Given the description of an element on the screen output the (x, y) to click on. 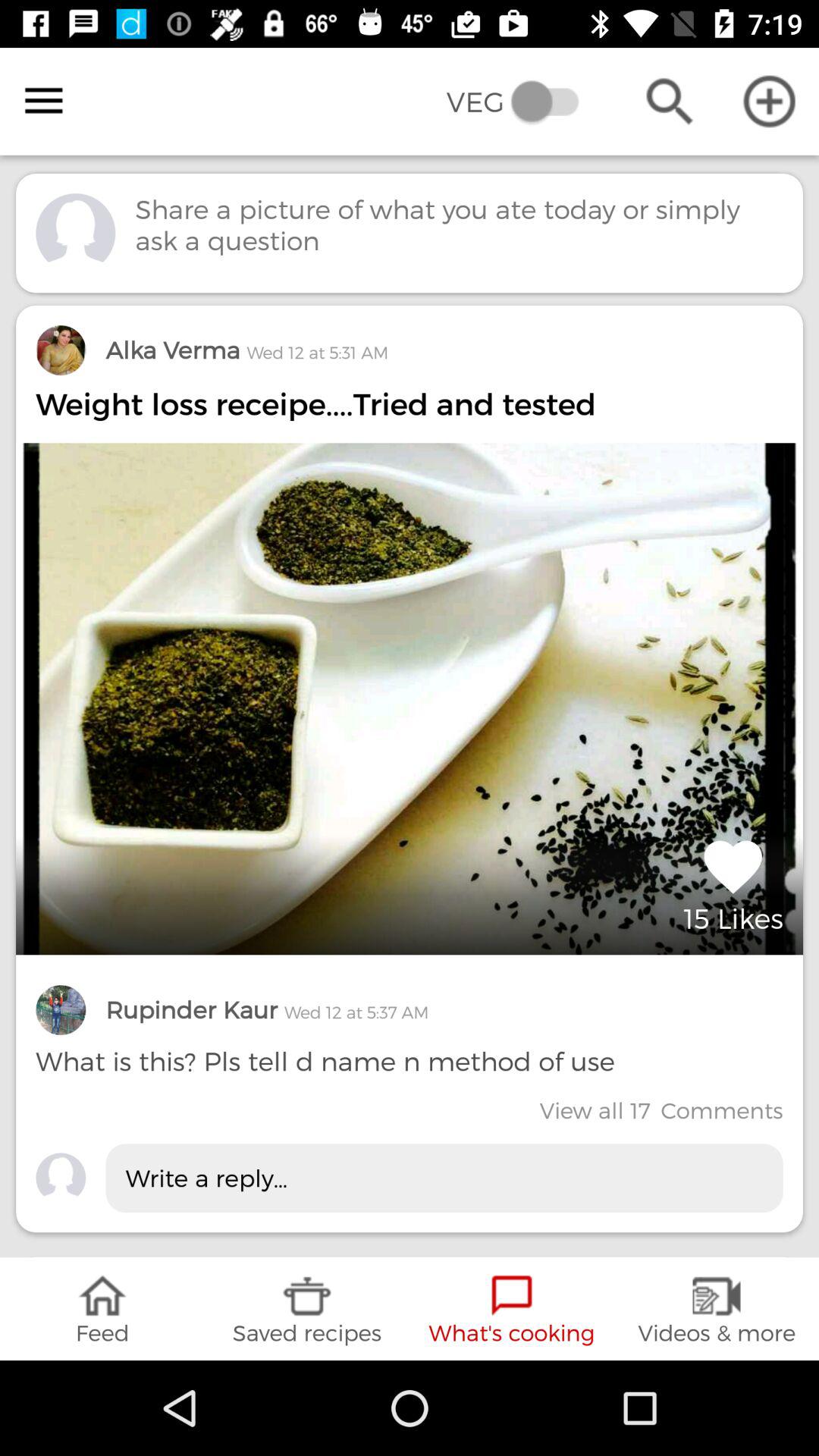
turn off the 15 likes (733, 883)
